Given the description of an element on the screen output the (x, y) to click on. 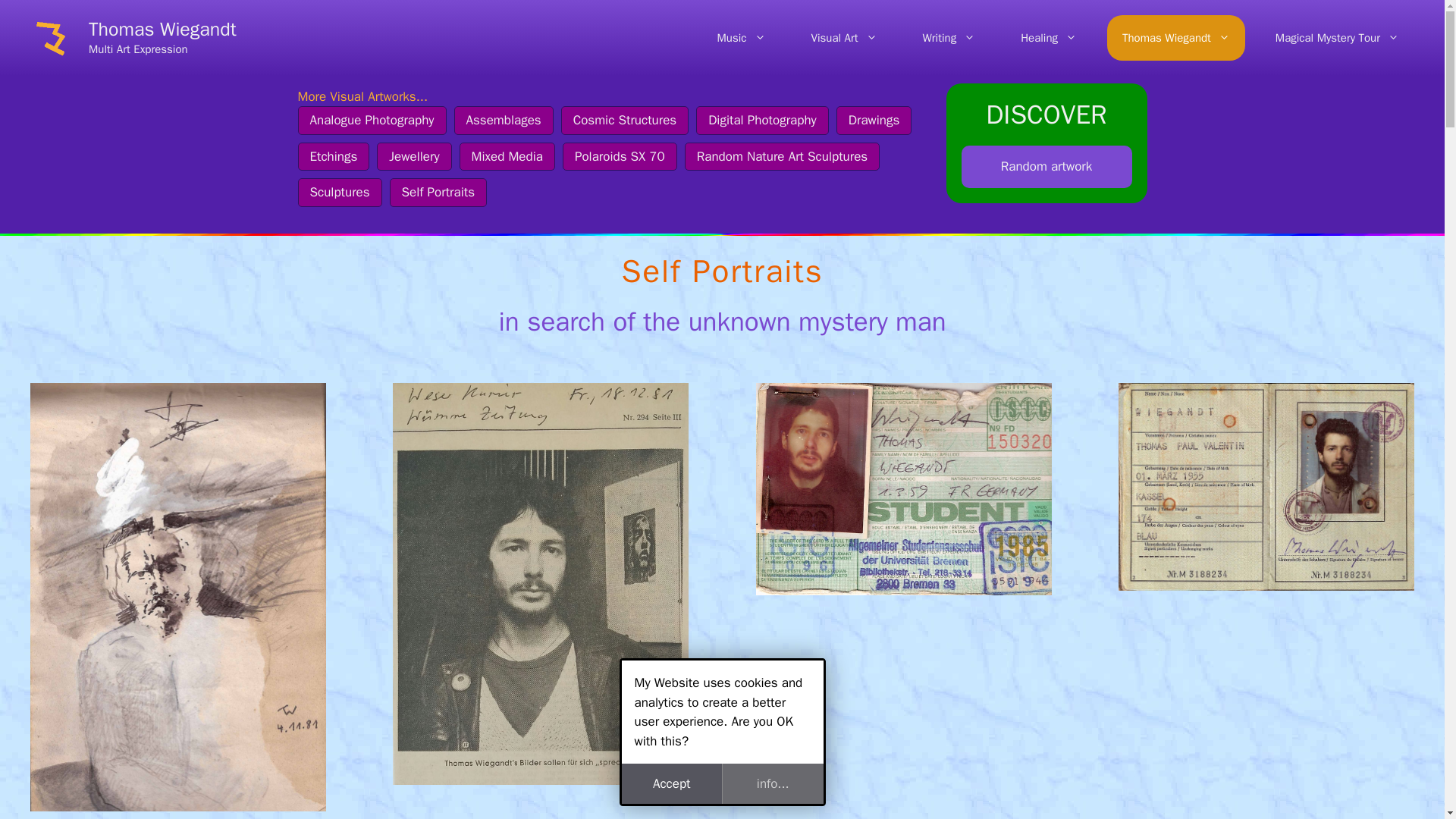
Visual Art (844, 37)
Thomas Wiegandt (161, 28)
Writing (949, 37)
Thomas Wiegandt (1175, 37)
Music (740, 37)
Healing (1049, 37)
